Given the description of an element on the screen output the (x, y) to click on. 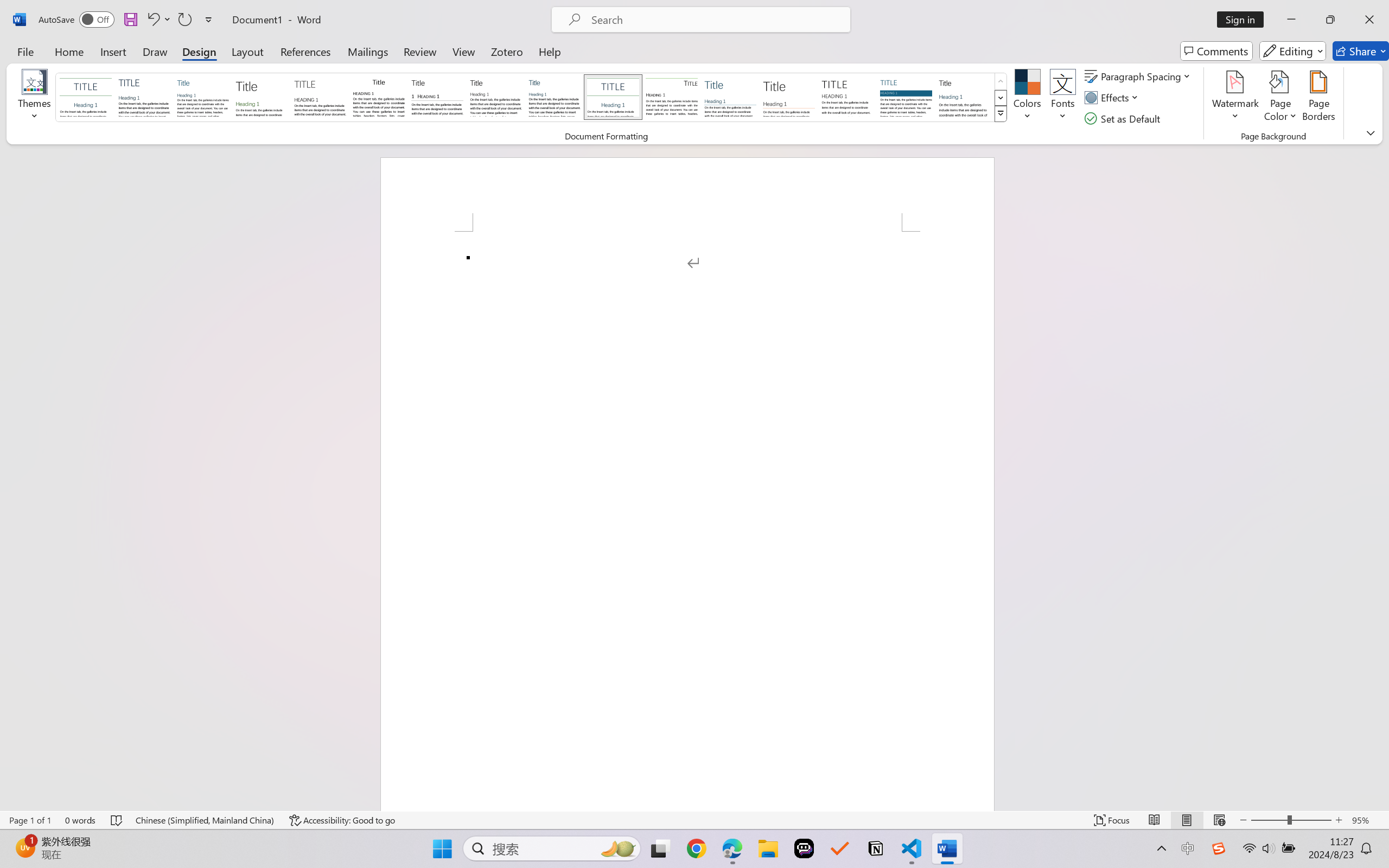
Undo Apply Quick Style Set (152, 19)
Centered (612, 96)
Lines (Distinctive) (671, 96)
Minimalist (847, 96)
Black & White (Classic) (379, 96)
